Given the description of an element on the screen output the (x, y) to click on. 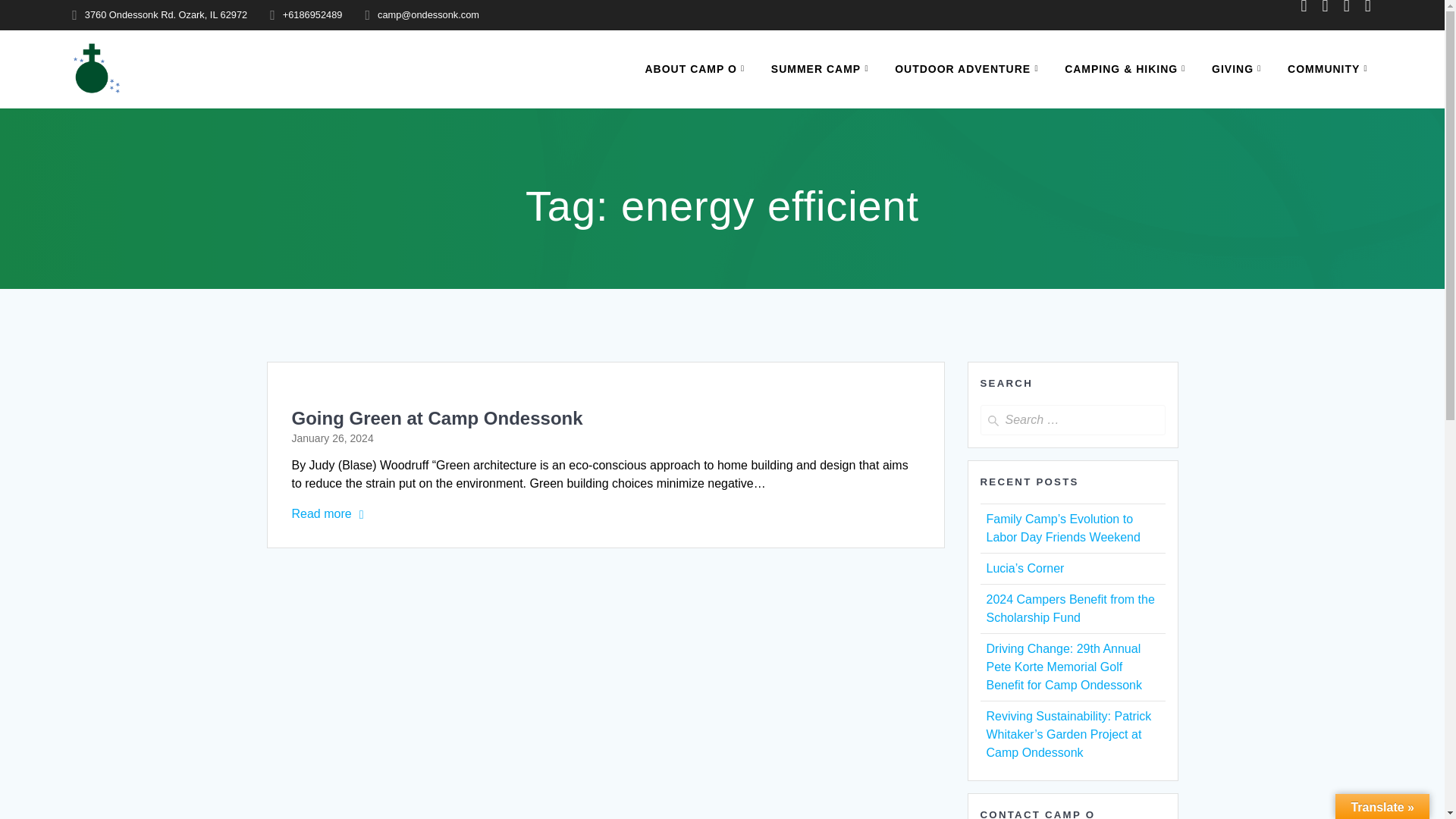
SUMMER CAMP (823, 68)
GIVING (1238, 68)
3760 Ondessonk Rd. Ozark, IL 62972 (165, 14)
ABOUT CAMP O (697, 68)
OUTDOOR ADVENTURE (969, 68)
